Given the description of an element on the screen output the (x, y) to click on. 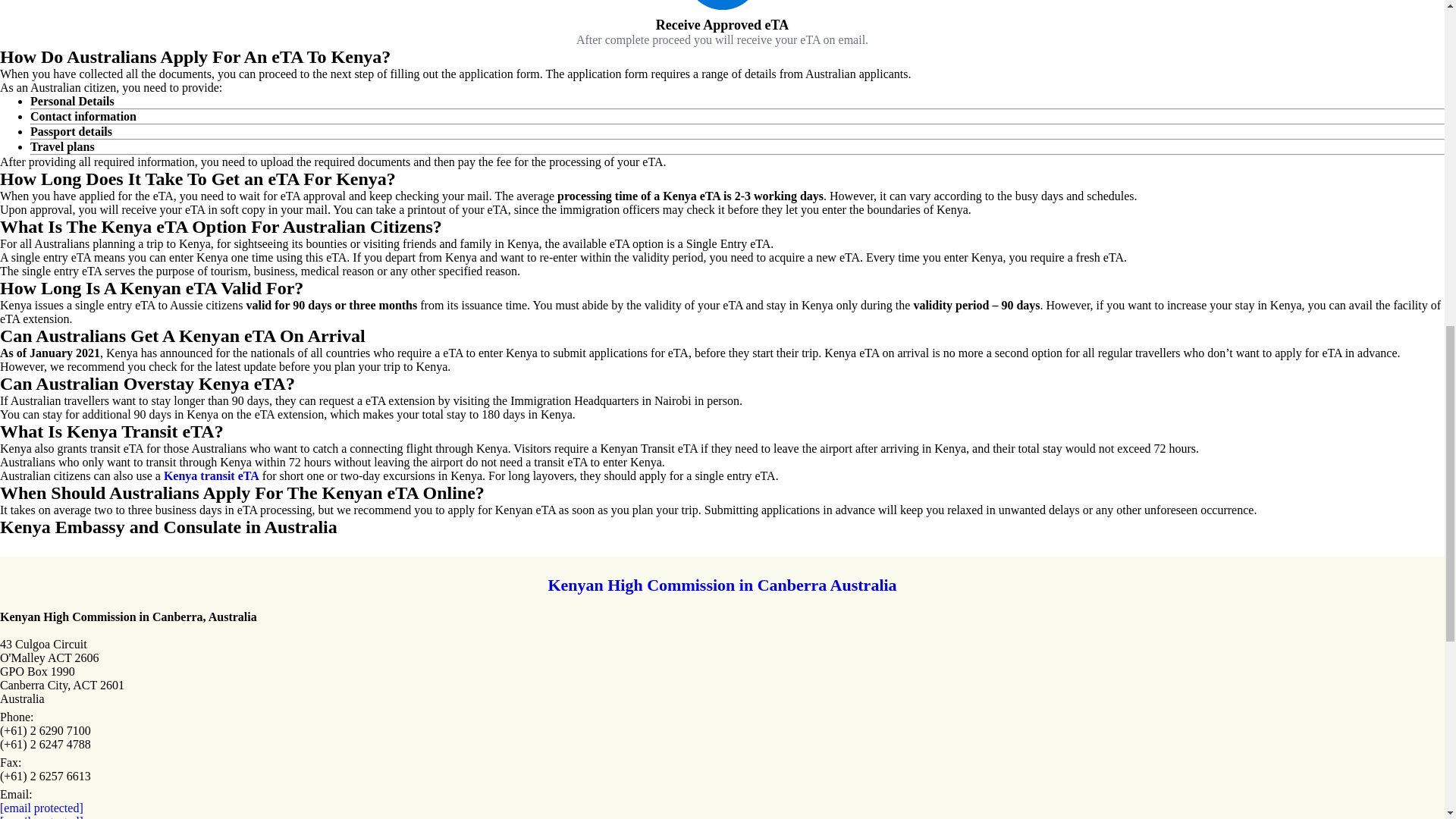
Kenya transit eTA (211, 475)
Kenyan High Commission in Canberra Australia (721, 585)
   Kenyan   High Commission  in Canberra    (721, 585)
Kenya transit eTA (211, 475)
